Given the description of an element on the screen output the (x, y) to click on. 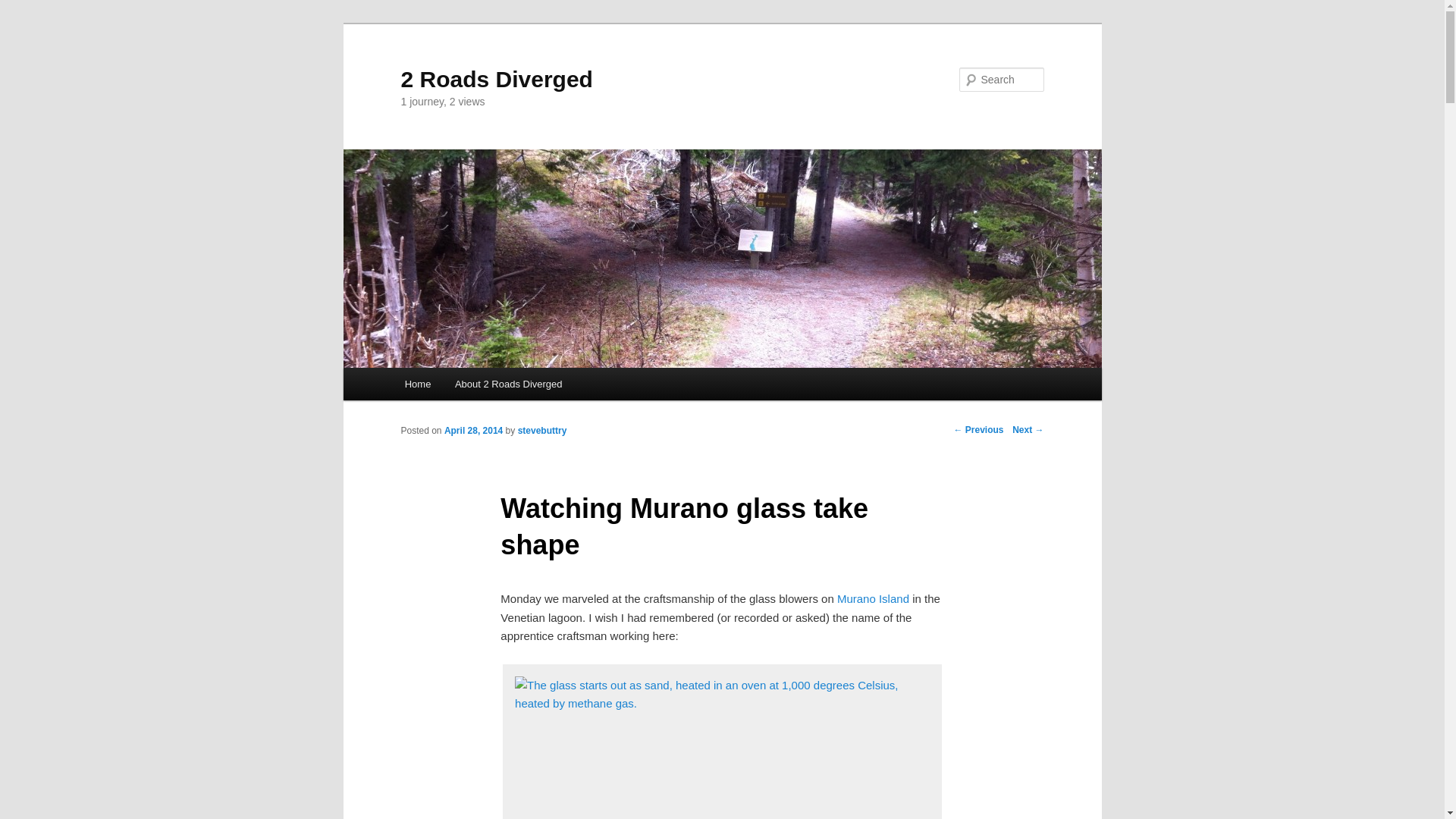
Search Element type: text (24, 8)
2 Roads Diverged Element type: text (496, 78)
Murano Island Element type: text (873, 598)
Home Element type: text (417, 383)
Skip to primary content Element type: text (472, 386)
About 2 Roads Diverged Element type: text (508, 383)
stevebuttry Element type: text (542, 430)
April 28, 2014 Element type: text (473, 430)
